Given the description of an element on the screen output the (x, y) to click on. 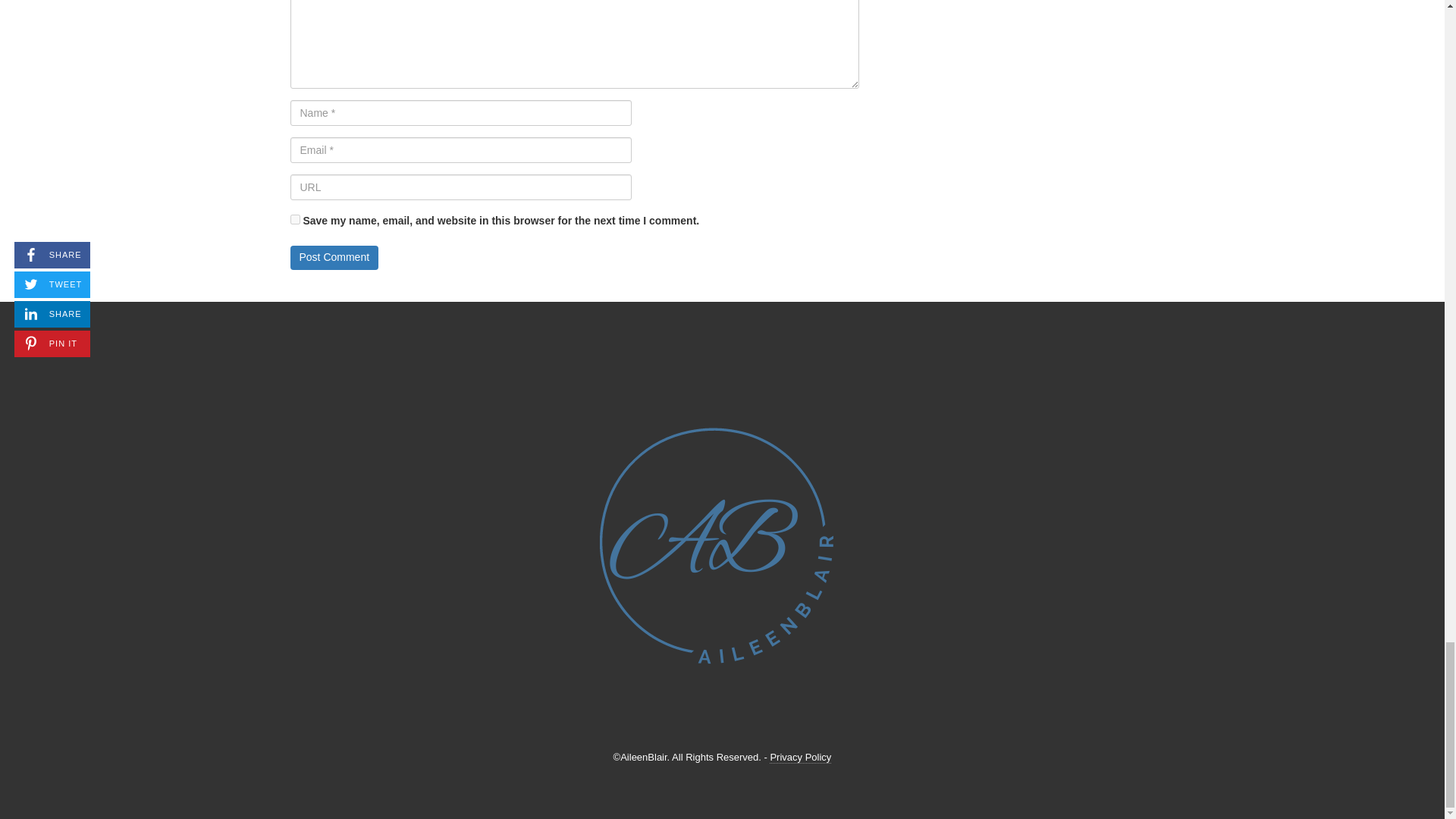
Post Comment (333, 257)
Post Comment (333, 257)
yes (294, 219)
